Given the description of an element on the screen output the (x, y) to click on. 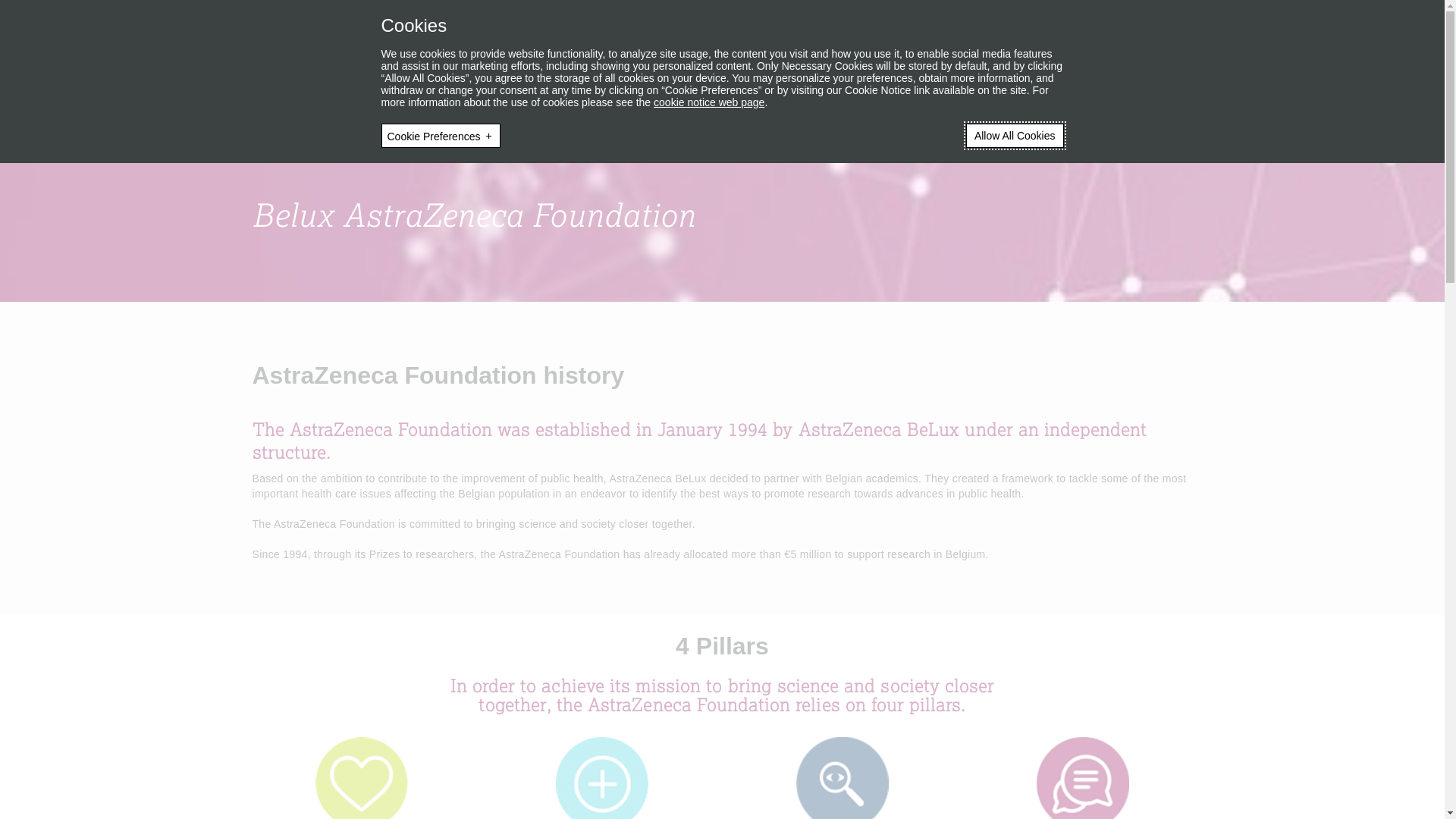
AZ Foundation Element type: text (989, 50)
Search Element type: text (1191, 16)
AstraZeneca Websites Element type: text (1048, 17)
cookie notice web page Element type: text (708, 102)
Careers Element type: text (577, 50)
Global Site Element type: text (1134, 17)
Allow All Cookies Element type: text (1014, 135)
Partnerships Element type: text (651, 50)
Sustainability Element type: text (742, 50)
Choose Your Language Element type: text (929, 16)
BeLux News Element type: text (832, 50)
COVID-19 Response Element type: text (481, 50)
Therapy Areas Element type: text (368, 50)
Cookie Preferences Element type: text (439, 135)
Company Element type: text (280, 50)
Contact Element type: text (904, 50)
